Given the description of an element on the screen output the (x, y) to click on. 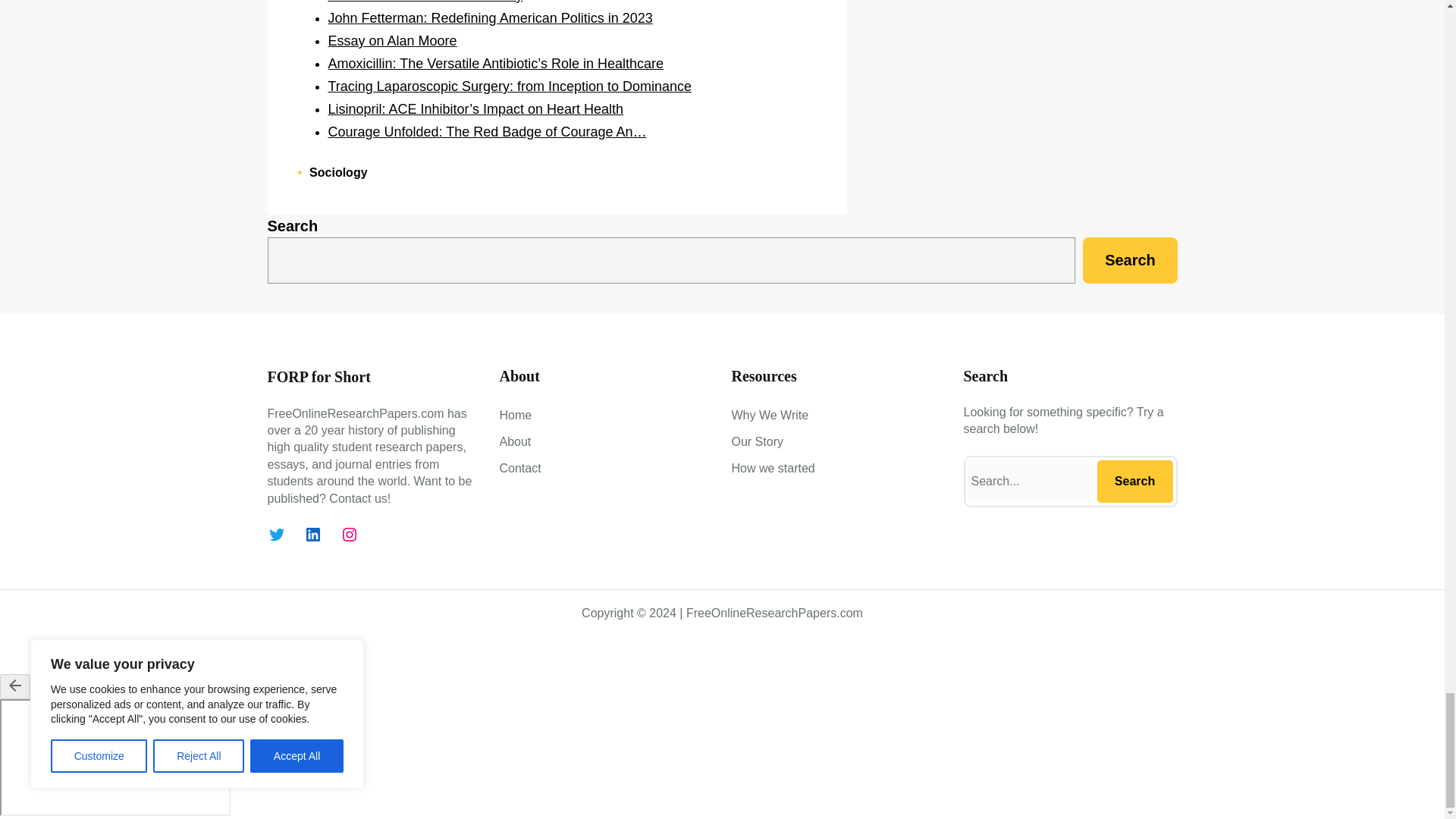
Sociology (337, 172)
How to Write a Deductive Essay (424, 1)
Tracing Laparoscopic Surgery: from Inception to Dominance (509, 86)
Essay on Alan Moore (392, 40)
John Fetterman: Redefining American Politics in 2023 (489, 17)
